Given the description of an element on the screen output the (x, y) to click on. 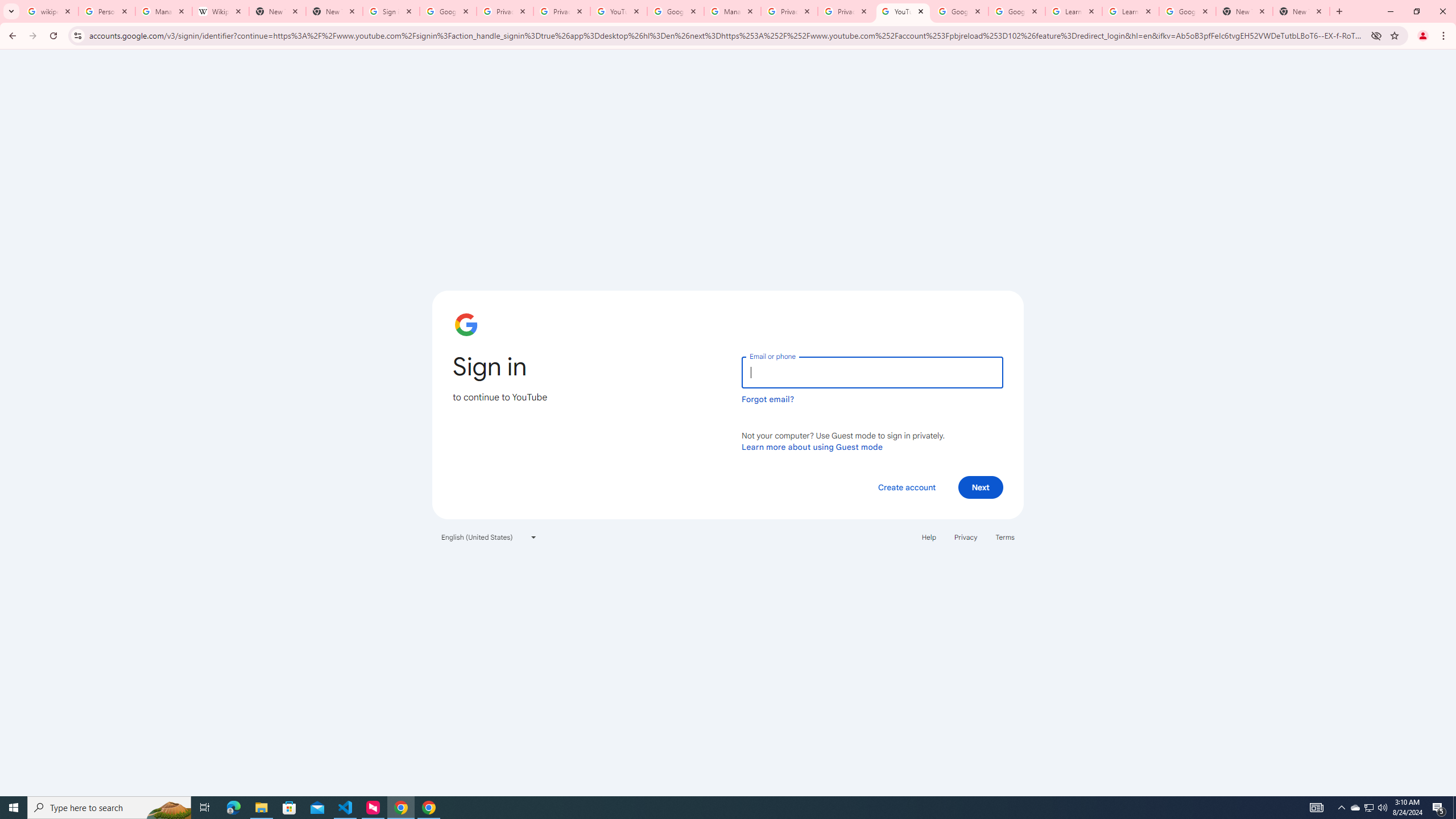
Sign in - Google Accounts (391, 11)
Learn more about using Guest mode (812, 446)
Google Account (1187, 11)
